Given the description of an element on the screen output the (x, y) to click on. 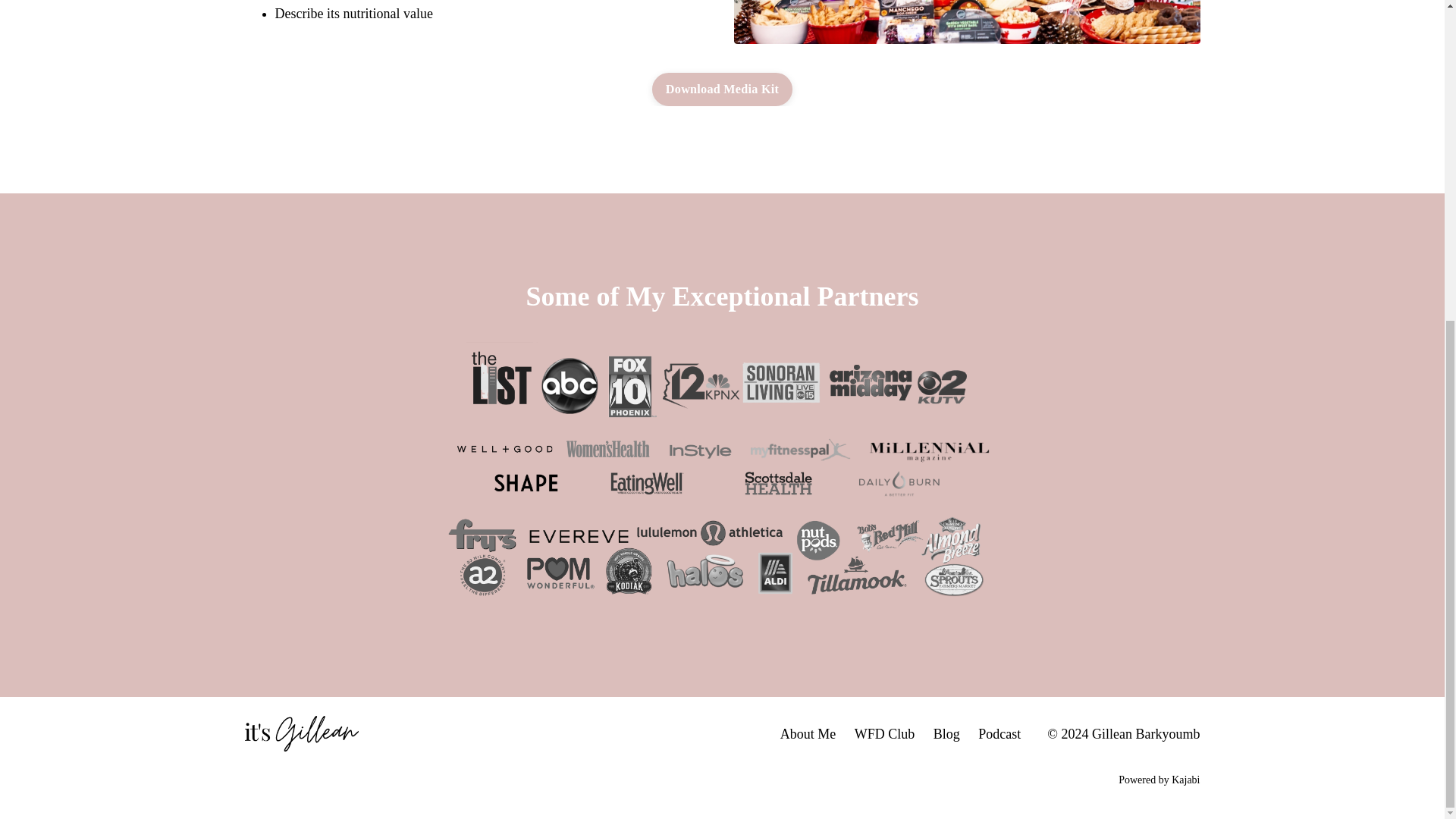
Blog (946, 734)
WFD Club (884, 734)
About Me (807, 734)
Powered by Kajabi (1158, 779)
Podcast (999, 734)
Download Media Kit (722, 89)
